Given the description of an element on the screen output the (x, y) to click on. 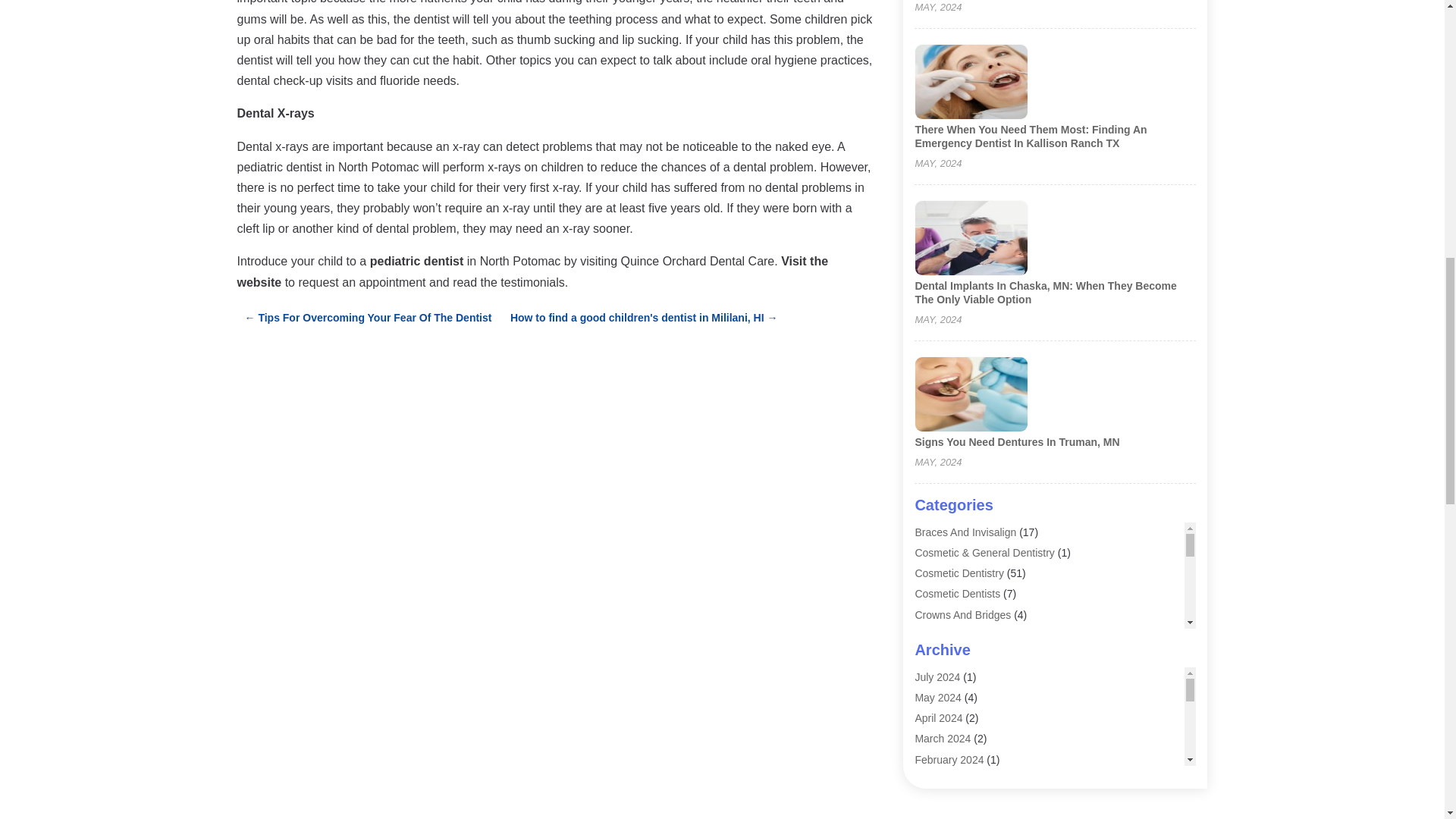
Dental Emergency (957, 655)
Cosmetic Dentists (957, 593)
Cosmetic Dentistry (958, 573)
Signs You Need Dentures In Truman, MN (1016, 441)
Dental Services (951, 717)
Dental Implants (951, 676)
Braces And Invisalign (965, 532)
Dental Caries (946, 635)
Crowns And Bridges (962, 614)
Dental Restoration (958, 696)
